Given the description of an element on the screen output the (x, y) to click on. 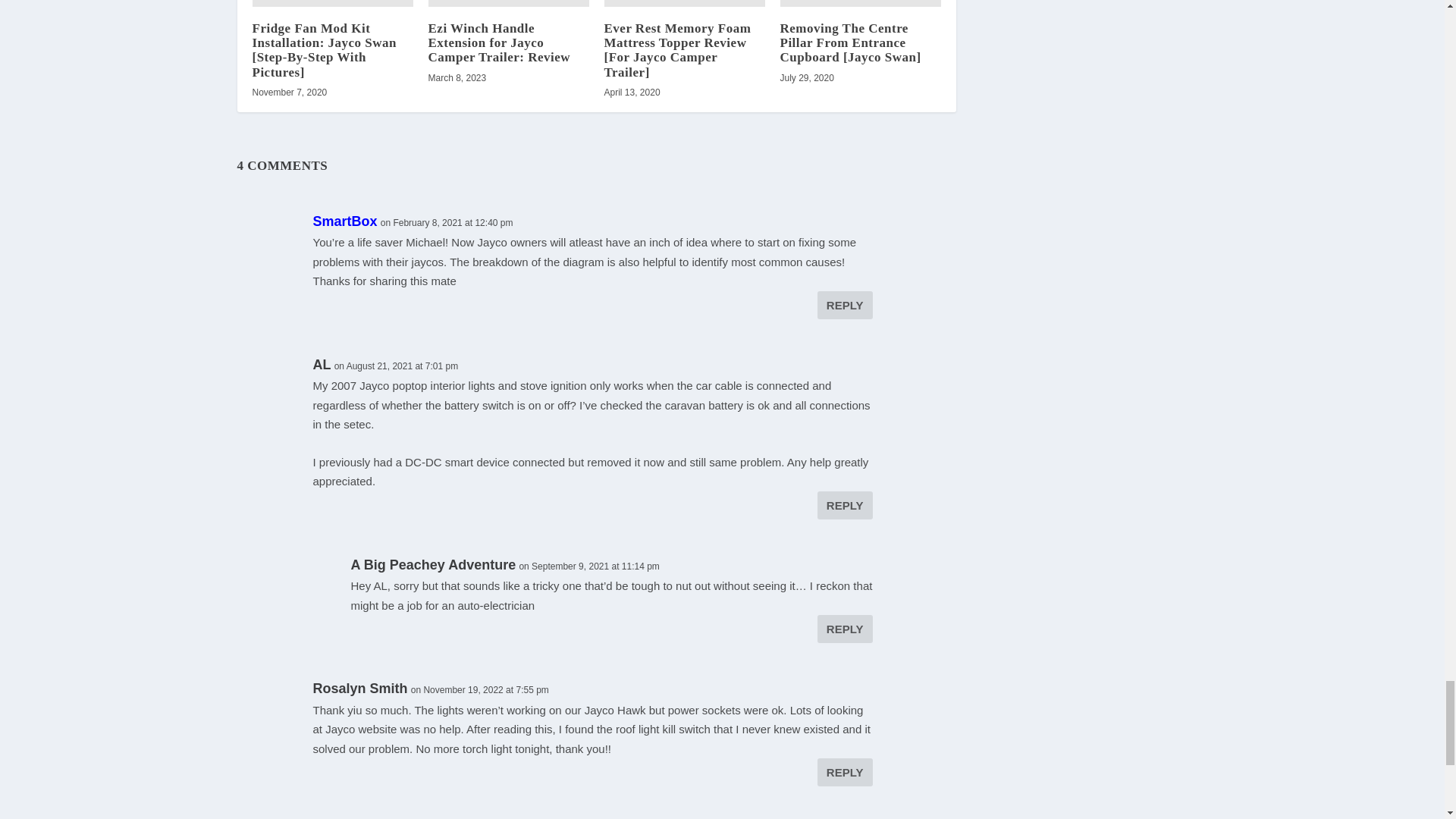
SmartBox (345, 221)
REPLY (844, 505)
REPLY (844, 628)
REPLY (844, 305)
Ezi Winch Handle Extension for Jayco Camper Trailer: Review (508, 3)
Ezi Winch Handle Extension for Jayco Camper Trailer: Review (499, 42)
REPLY (844, 772)
